Given the description of an element on the screen output the (x, y) to click on. 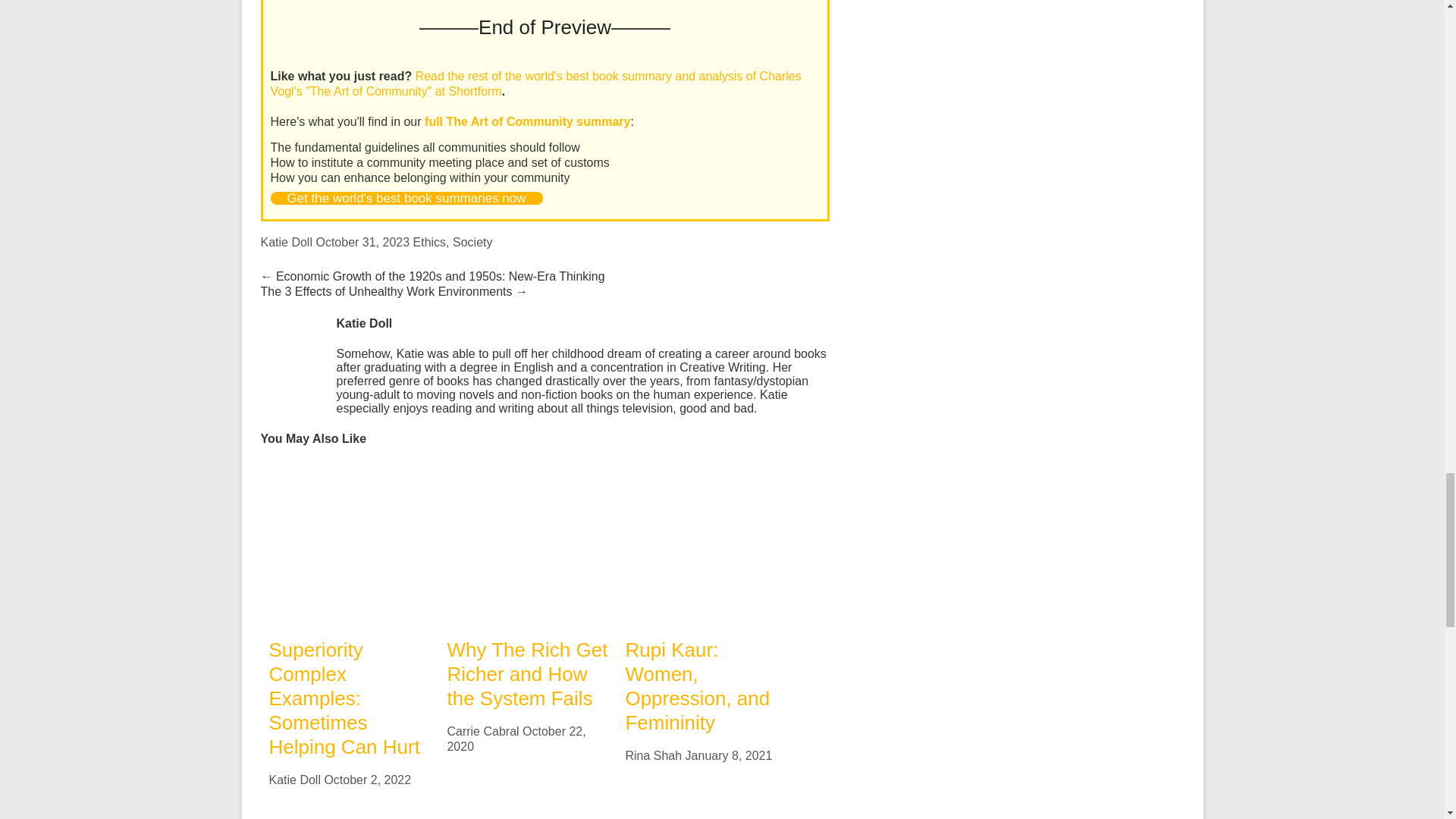
8:21 pm (729, 755)
9:25 am (366, 779)
full The Art of Community summary (527, 121)
Rupi Kaur: Women, Oppression, and Femininity (697, 685)
October 31, 2023 (362, 241)
Rupi Kaur: Women, Oppression, and Femininity (705, 543)
10:07 pm (515, 738)
Rupi Kaur: Women, Oppression, and Femininity (705, 469)
Why The Rich Get Richer and How the System Fails (527, 543)
Society (472, 241)
Robinhood Stock Trading: The 2 Biggest Problems (348, 815)
Why The Rich Get Richer and How the System Fails (527, 469)
Why The Rich Get Richer and How the System Fails (526, 674)
Superiority Complex Examples: Sometimes Helping Can Hurt (348, 543)
